Given the description of an element on the screen output the (x, y) to click on. 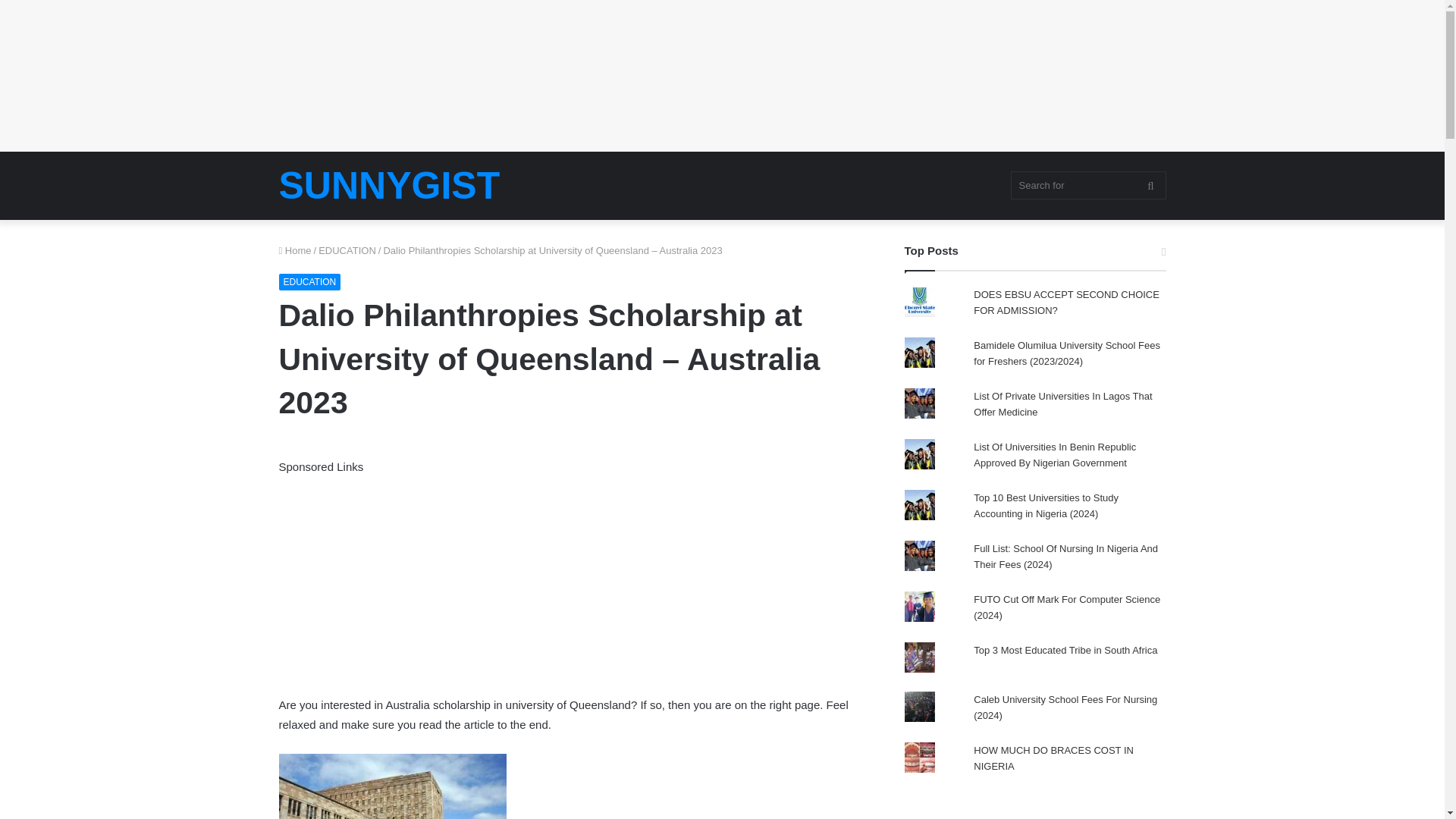
Advertisement (574, 582)
SUNNYGIST (389, 185)
Home (295, 250)
EDUCATION (309, 281)
SUNNYGIST (389, 185)
EDUCATION (346, 250)
Search for (1088, 185)
